Given the description of an element on the screen output the (x, y) to click on. 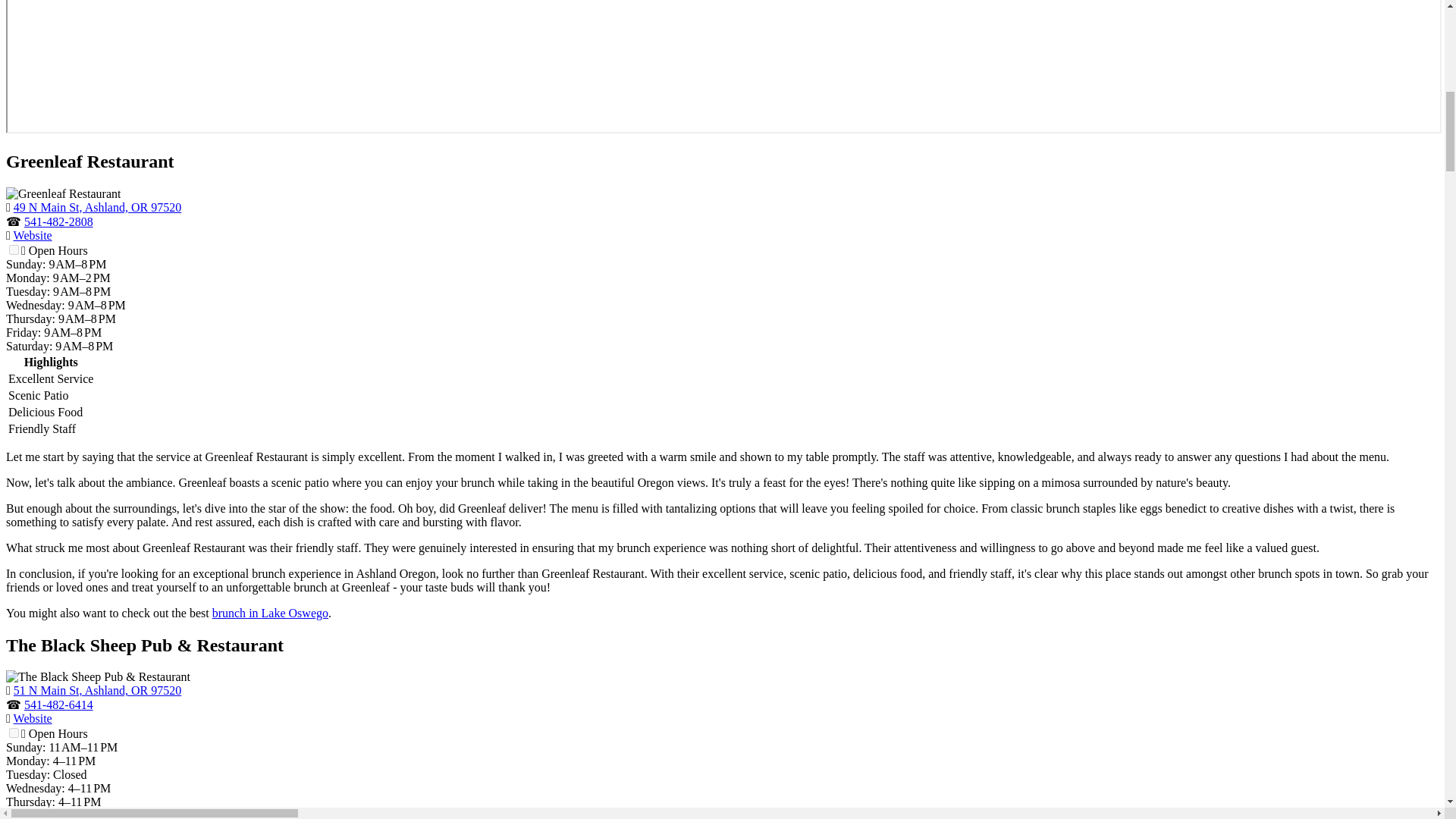
brunch in Lake Oswego (270, 612)
Website (32, 235)
541-482-2808 (58, 221)
Website (32, 717)
541-482-6414 (58, 704)
on (13, 732)
51 N Main St, Ashland, OR 97520 (96, 689)
49 N Main St, Ashland, OR 97520 (96, 206)
on (13, 249)
